Given the description of an element on the screen output the (x, y) to click on. 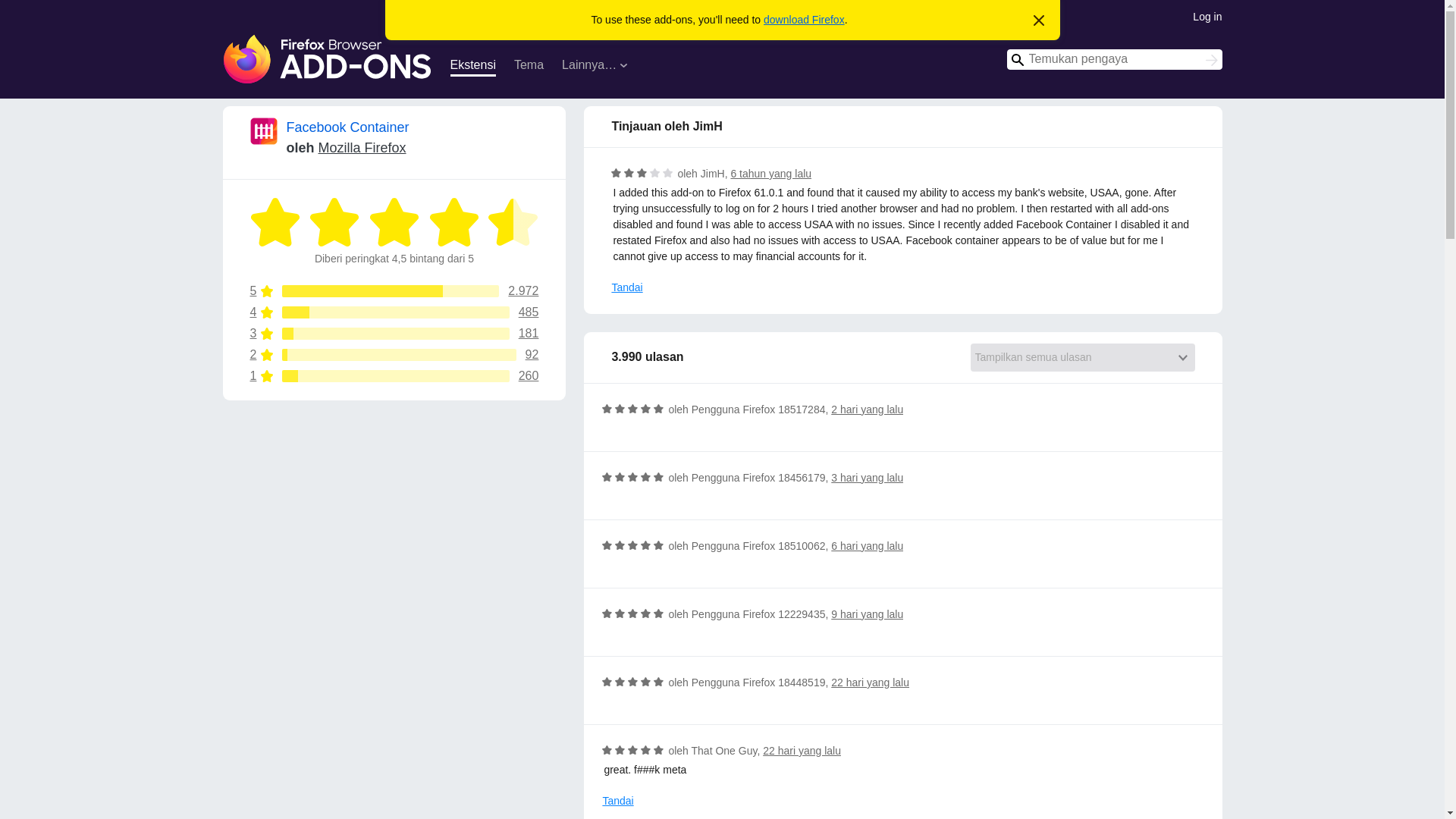
22 hari yang lalu (801, 750)
Tandai (617, 801)
Abaikan pernyataan ini (1038, 21)
Read all 485 four-star reviews (394, 312)
Diberi peringkat 4,5 dari 5 (394, 222)
Tema (528, 66)
Read all 260 one-star reviews (394, 376)
3 hari yang lalu (866, 477)
6 hari yang lalu (866, 545)
1 Agt 2018 pukul 00.43 (770, 173)
Diberi peringkat 4,5 dari 5 (275, 222)
Ekstensi (472, 66)
Diberi peringkat 4,5 dari 5 (333, 222)
Diberi peringkat 4,5 dari 5 (512, 222)
Pengaya Peramban Firefox (327, 59)
